Given the description of an element on the screen output the (x, y) to click on. 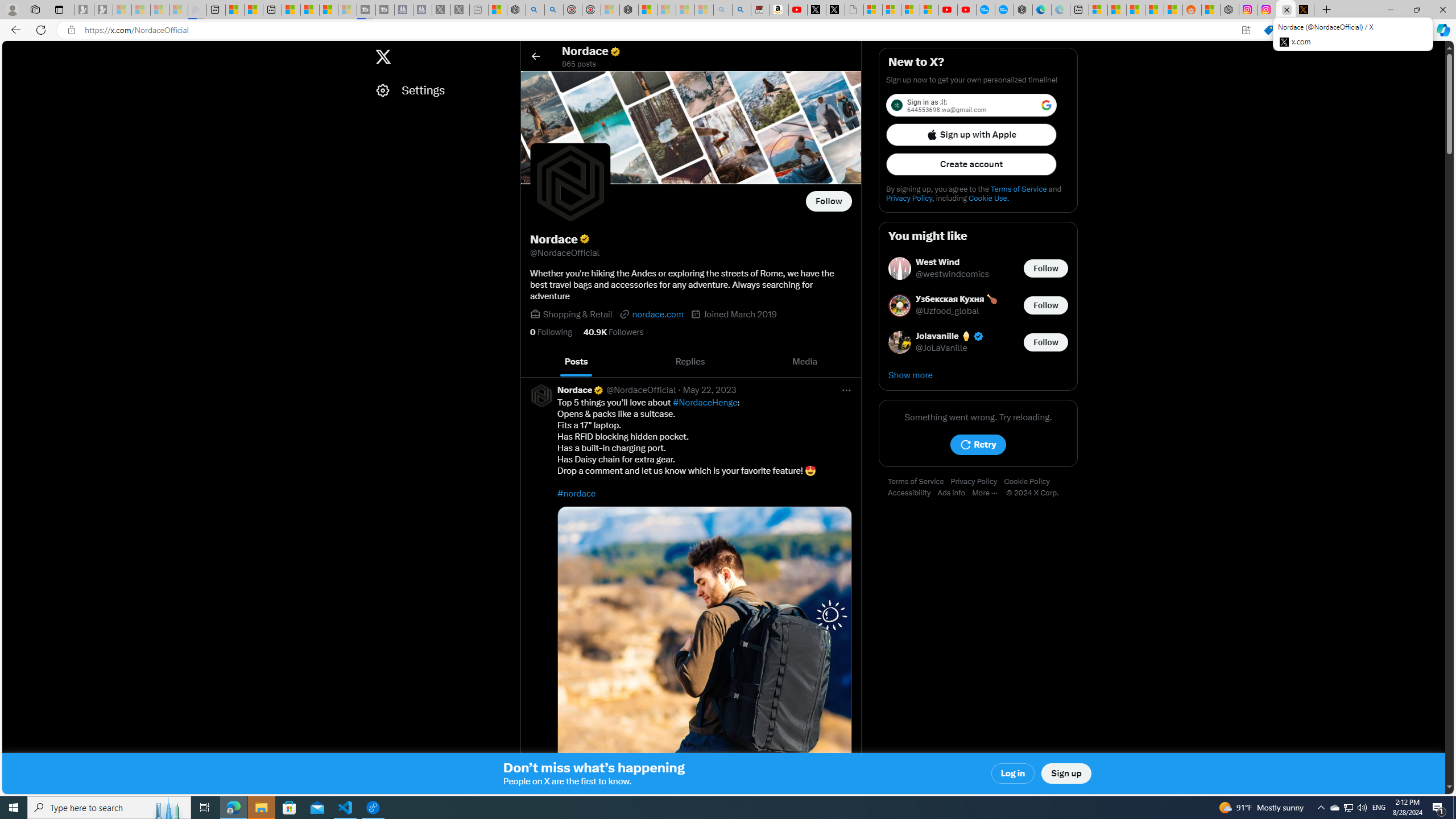
Show more (978, 375)
Image (704, 653)
Skip to home timeline (12, 50)
More (989, 492)
Image (704, 653)
Square profile picture and Opens profile photo (570, 182)
